Given the description of an element on the screen output the (x, y) to click on. 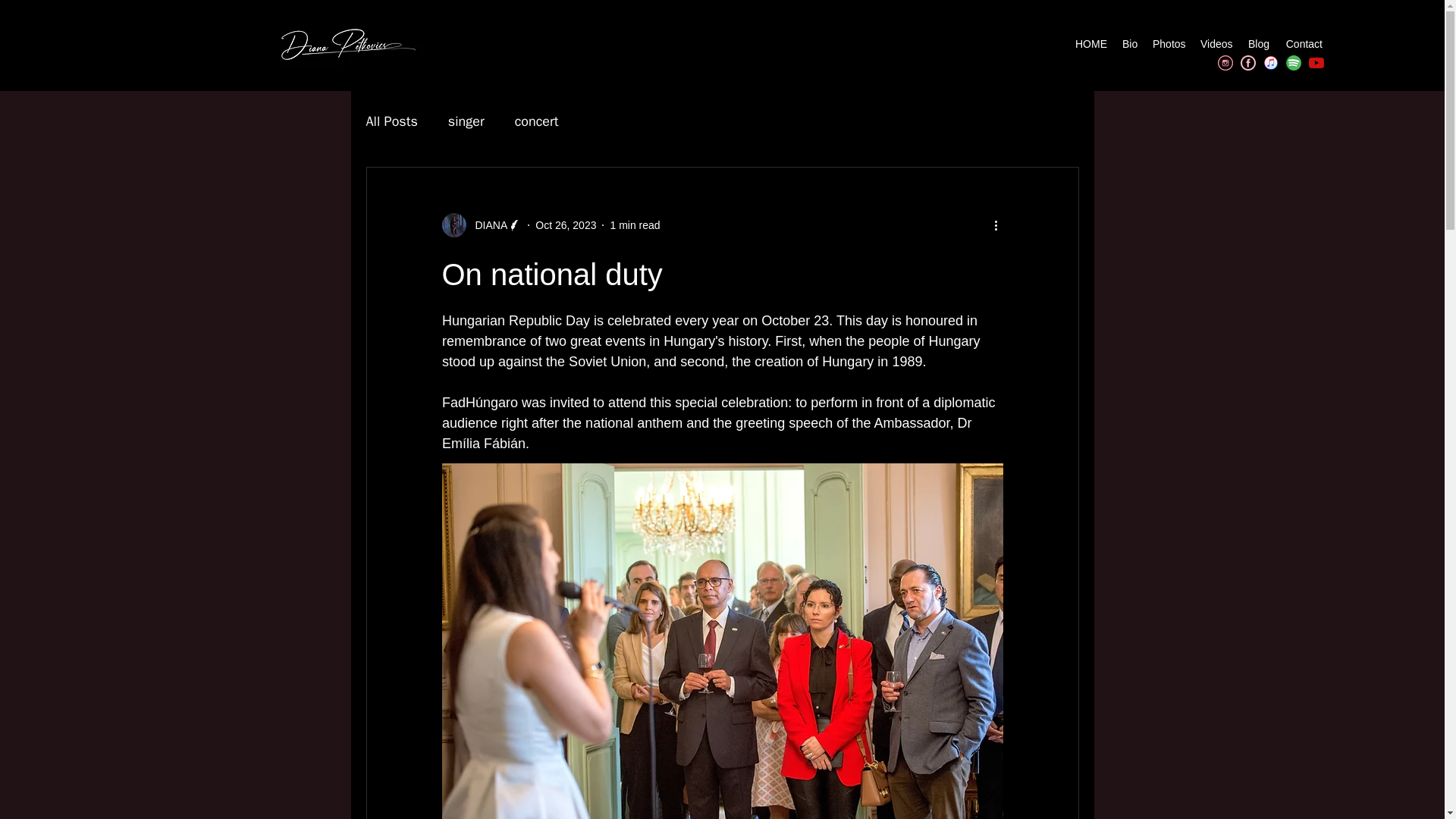
Contact (1303, 43)
Videos (1216, 43)
DIANA (481, 224)
singer (466, 121)
Photos (1168, 43)
DIANA (485, 224)
Blog (1258, 43)
Oct 26, 2023 (565, 224)
HOME (1091, 43)
concert (537, 121)
